Given the description of an element on the screen output the (x, y) to click on. 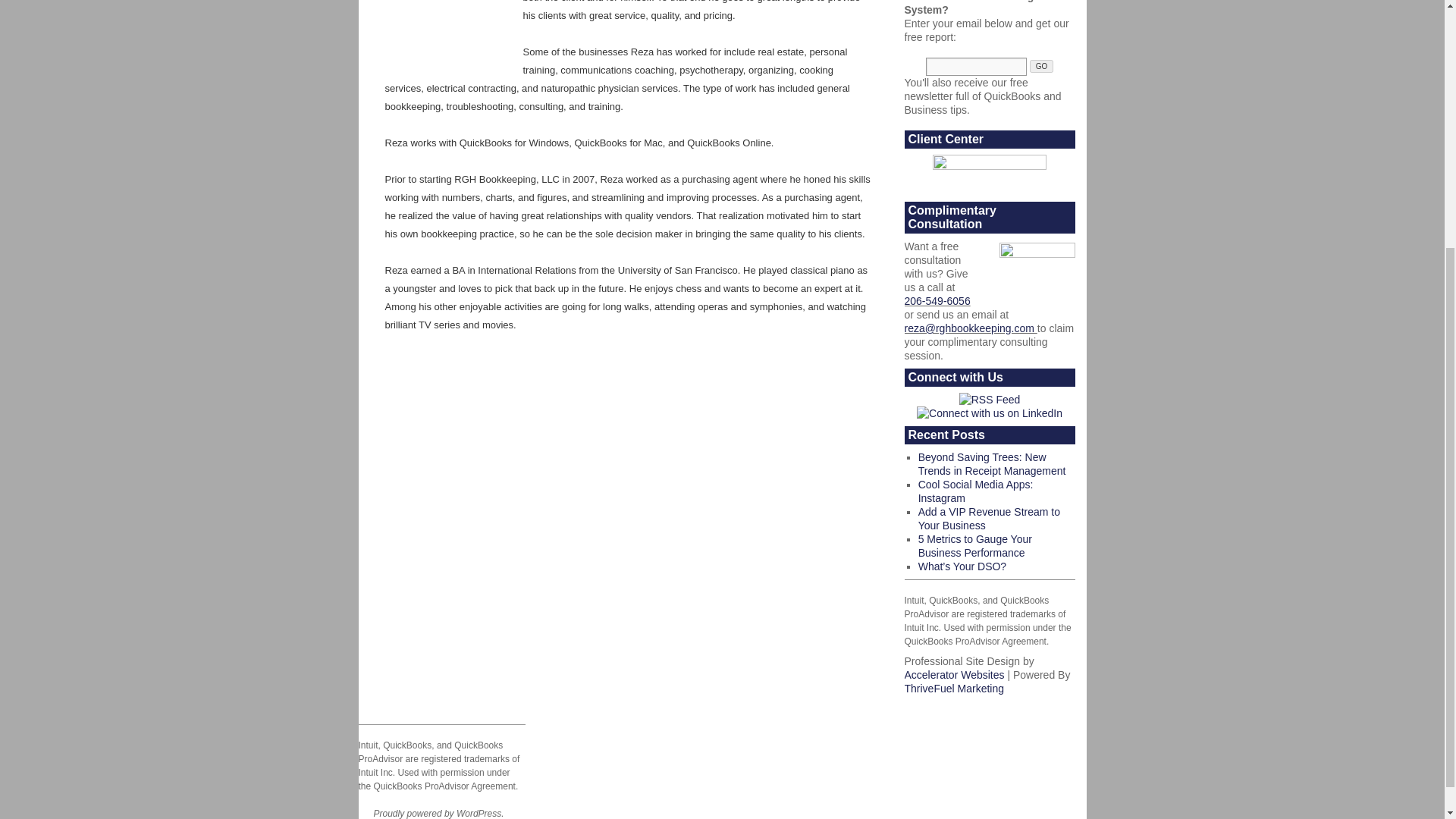
Beyond Saving Trees: New Trends in Receipt Management (991, 463)
RSS Feed (989, 399)
Want a free consultation with us?  (1036, 268)
Cool Social Media Apps: Instagram (975, 491)
ThriveFuel Marketing (954, 688)
GO (1041, 65)
Add a VIP Revenue Stream to Your Business (988, 518)
GO (1041, 65)
Reza Ghobadian (445, 29)
Accelerator Websites (954, 674)
